Given the description of an element on the screen output the (x, y) to click on. 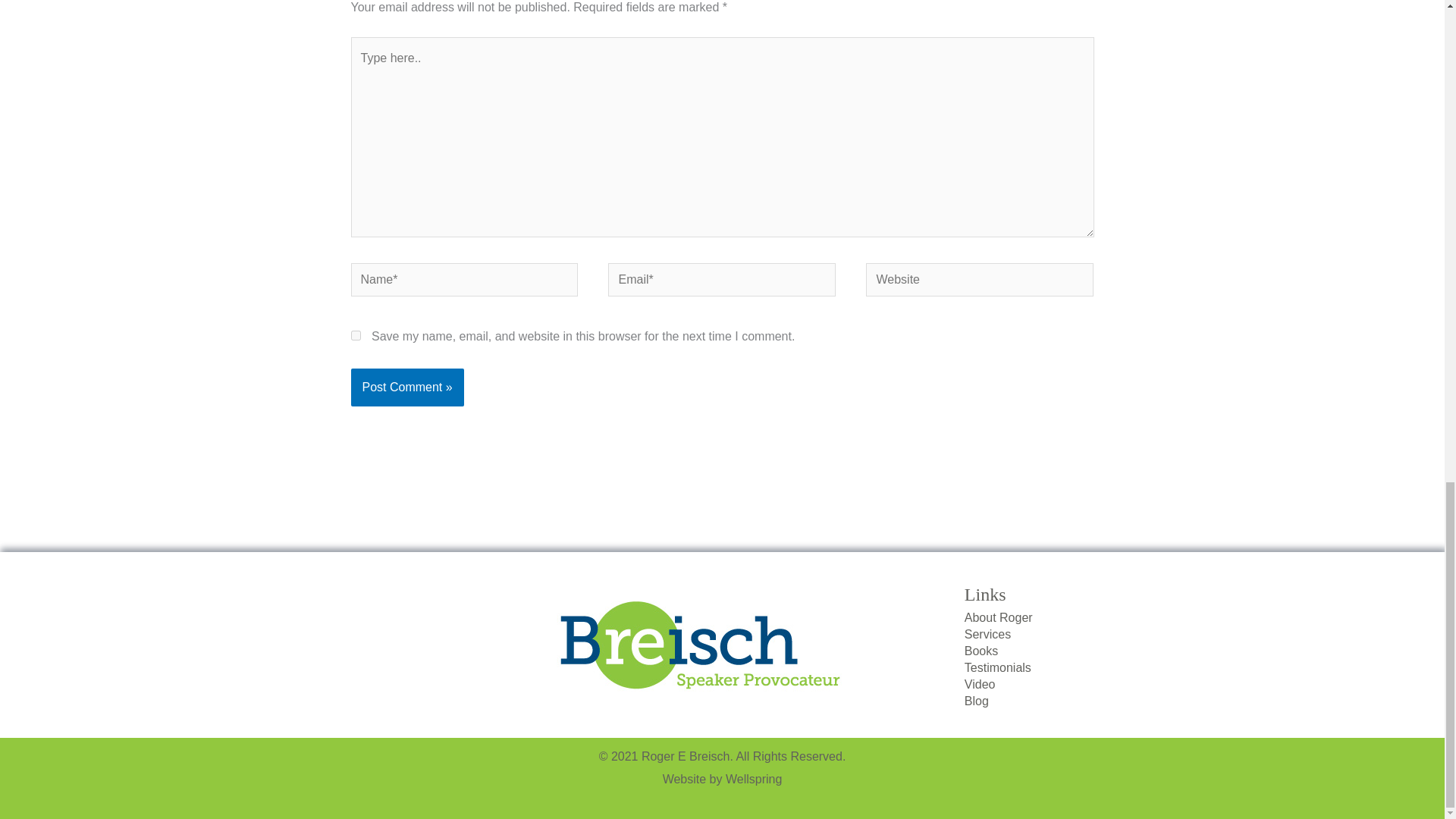
yes (354, 335)
About Roger (1043, 616)
Video (1043, 682)
Wellspring (753, 779)
Books (1043, 649)
Services (1043, 632)
Blog (1043, 699)
Testimonials (1043, 666)
